Given the description of an element on the screen output the (x, y) to click on. 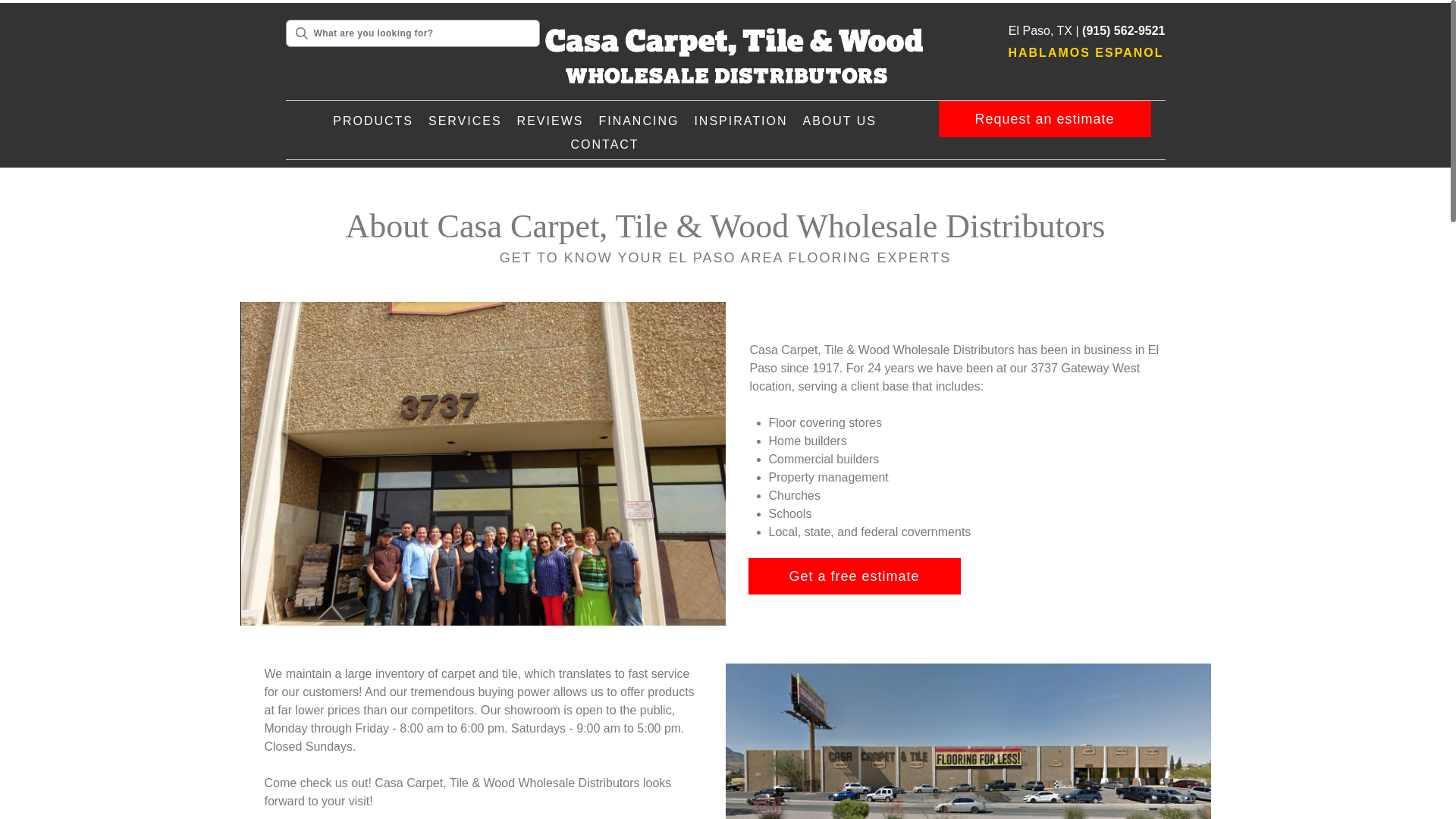
Get a free estimate (853, 575)
PRODUCTS (372, 121)
REVIEWS (550, 121)
FINANCING (638, 121)
SERVICES (464, 121)
ABOUT US (838, 121)
CONTACT (604, 144)
INSPIRATION (739, 121)
What are you looking for? (412, 32)
